Given the description of an element on the screen output the (x, y) to click on. 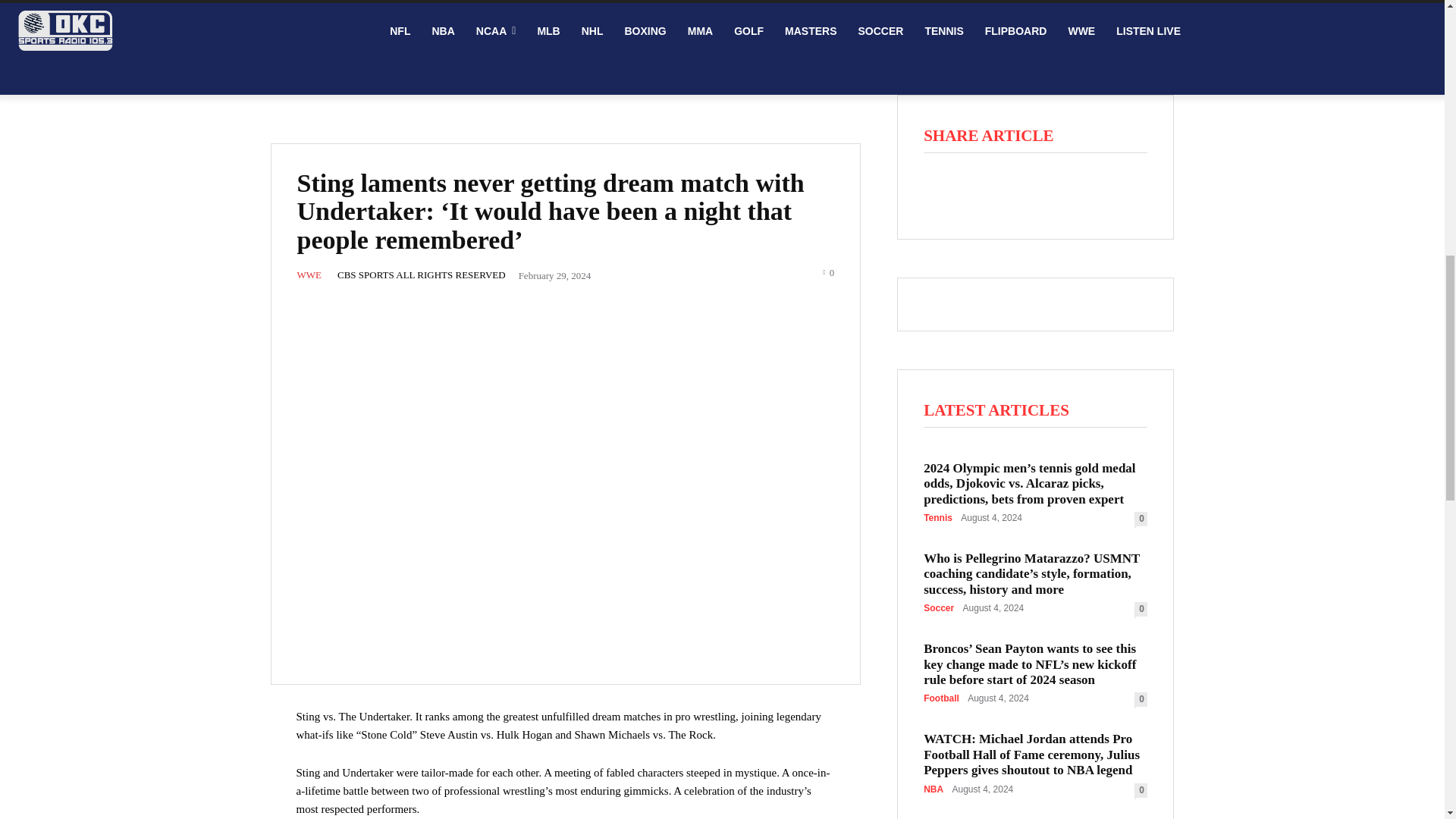
MMA (700, 31)
MLB (547, 31)
SOCCER (880, 31)
GOLF (748, 31)
NFL (399, 31)
NCAA (496, 31)
MASTERS (810, 31)
BOXING (645, 31)
NHL (592, 31)
NBA (442, 31)
